Given the description of an element on the screen output the (x, y) to click on. 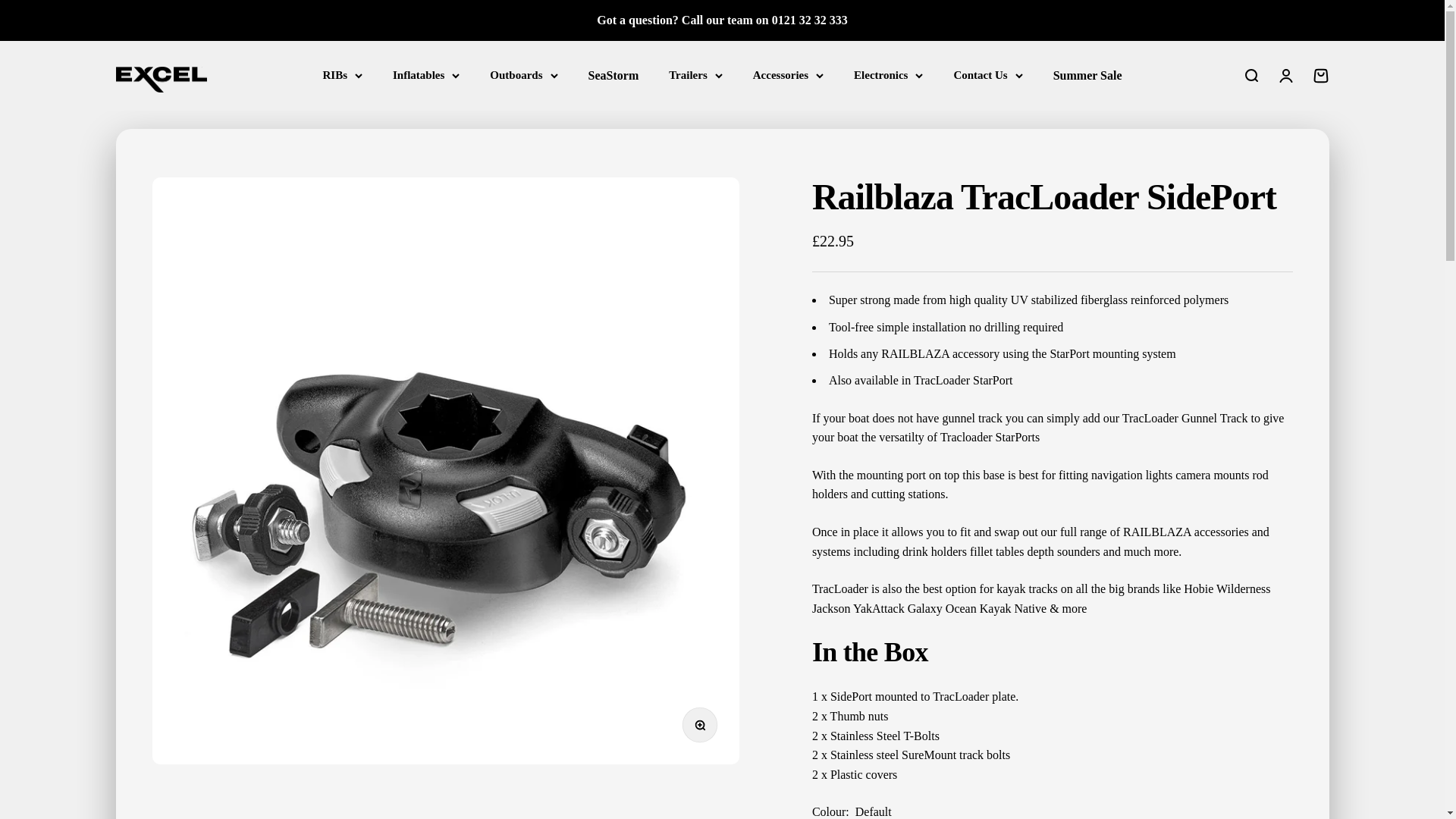
SeaStorm (613, 74)
